Given the description of an element on the screen output the (x, y) to click on. 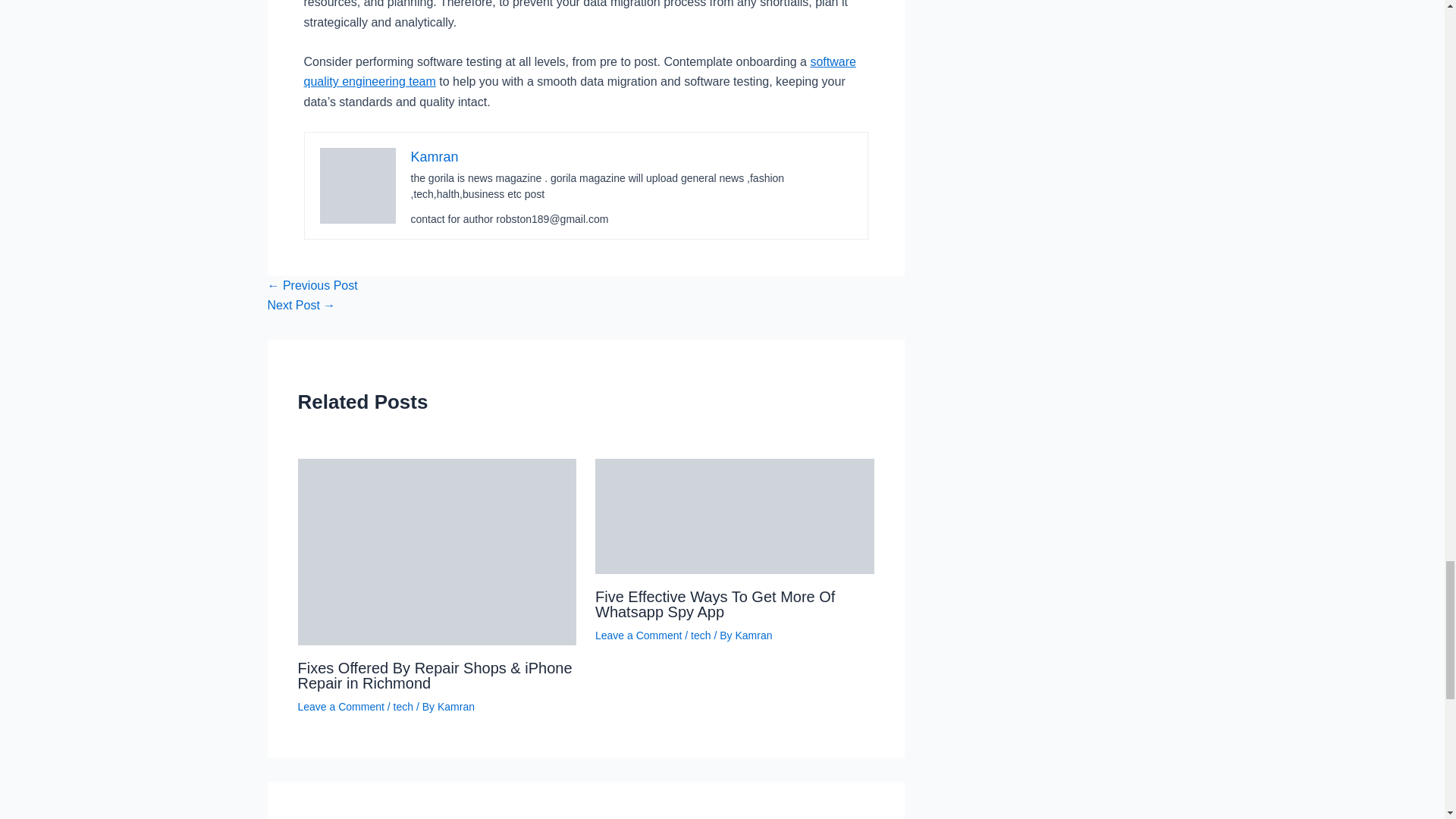
Five Effective Ways To Get More Of Whatsapp Spy App (714, 603)
tech (700, 635)
Leave a Comment (638, 635)
View all posts by Kamran (753, 635)
View all posts by Kamran (456, 706)
Do you want to build up your career in Digital Forensics? (311, 285)
Kamran (753, 635)
Leave a Comment (340, 706)
Kamran (456, 706)
Kamran (434, 156)
tech (403, 706)
software quality engineering team (579, 71)
